Given the description of an element on the screen output the (x, y) to click on. 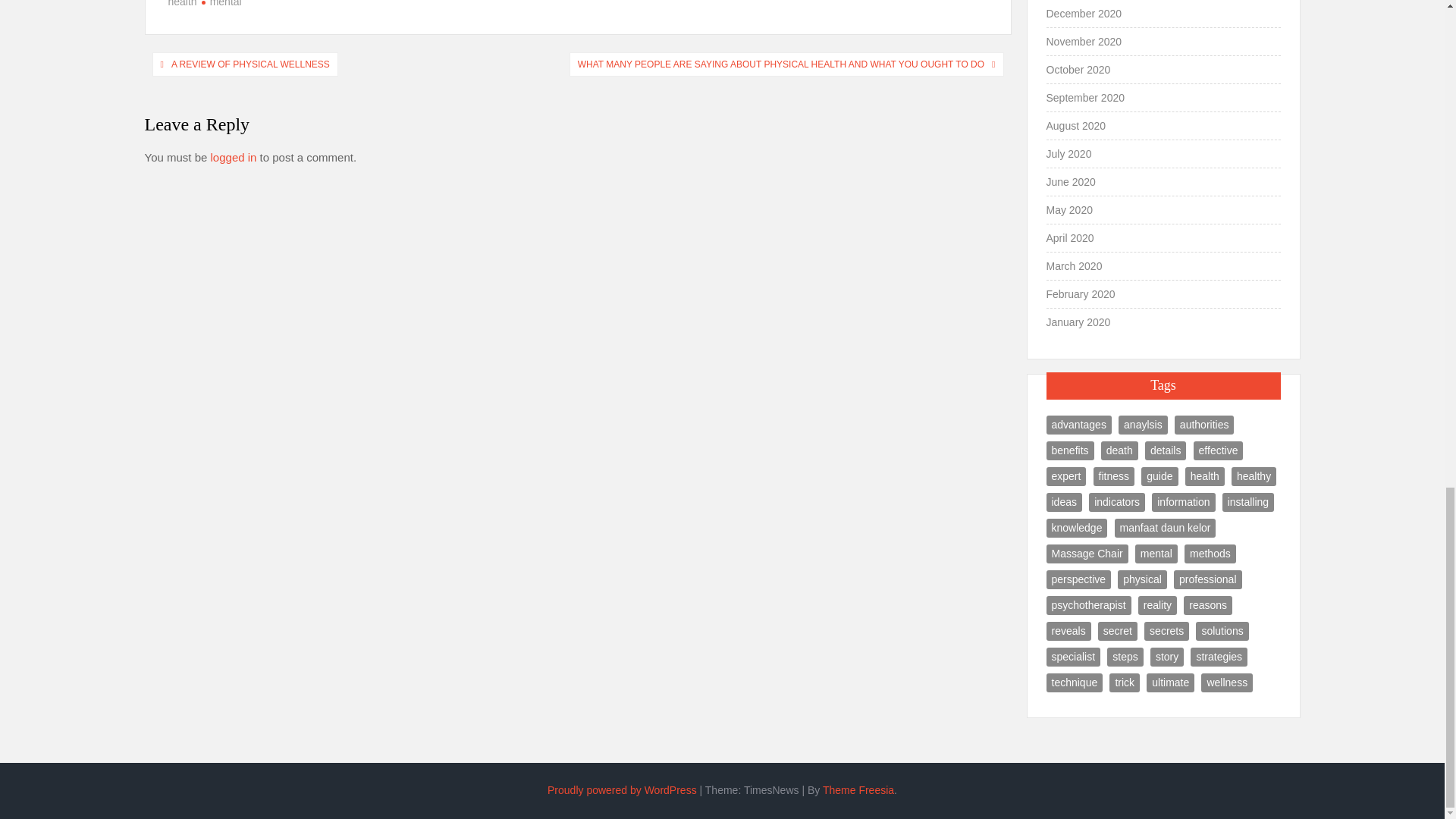
mental (221, 3)
A REVIEW OF PHYSICAL WELLNESS (250, 64)
health (182, 3)
